Given the description of an element on the screen output the (x, y) to click on. 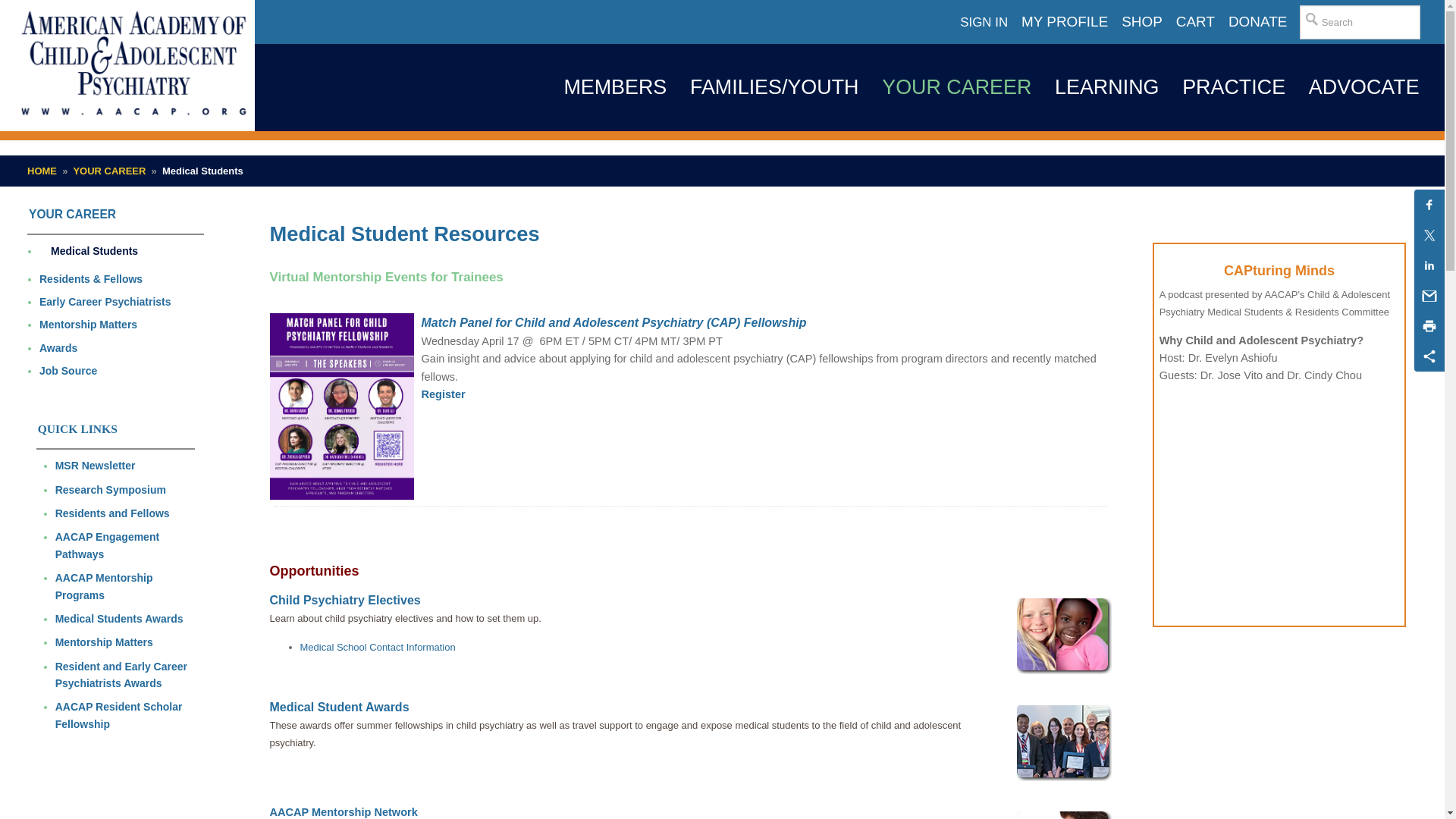
MEMBERS (614, 87)
MY PROFILE (1064, 21)
DONATE (1257, 21)
CART (1195, 21)
SIGN IN (983, 22)
SHOP (1142, 21)
